Given the description of an element on the screen output the (x, y) to click on. 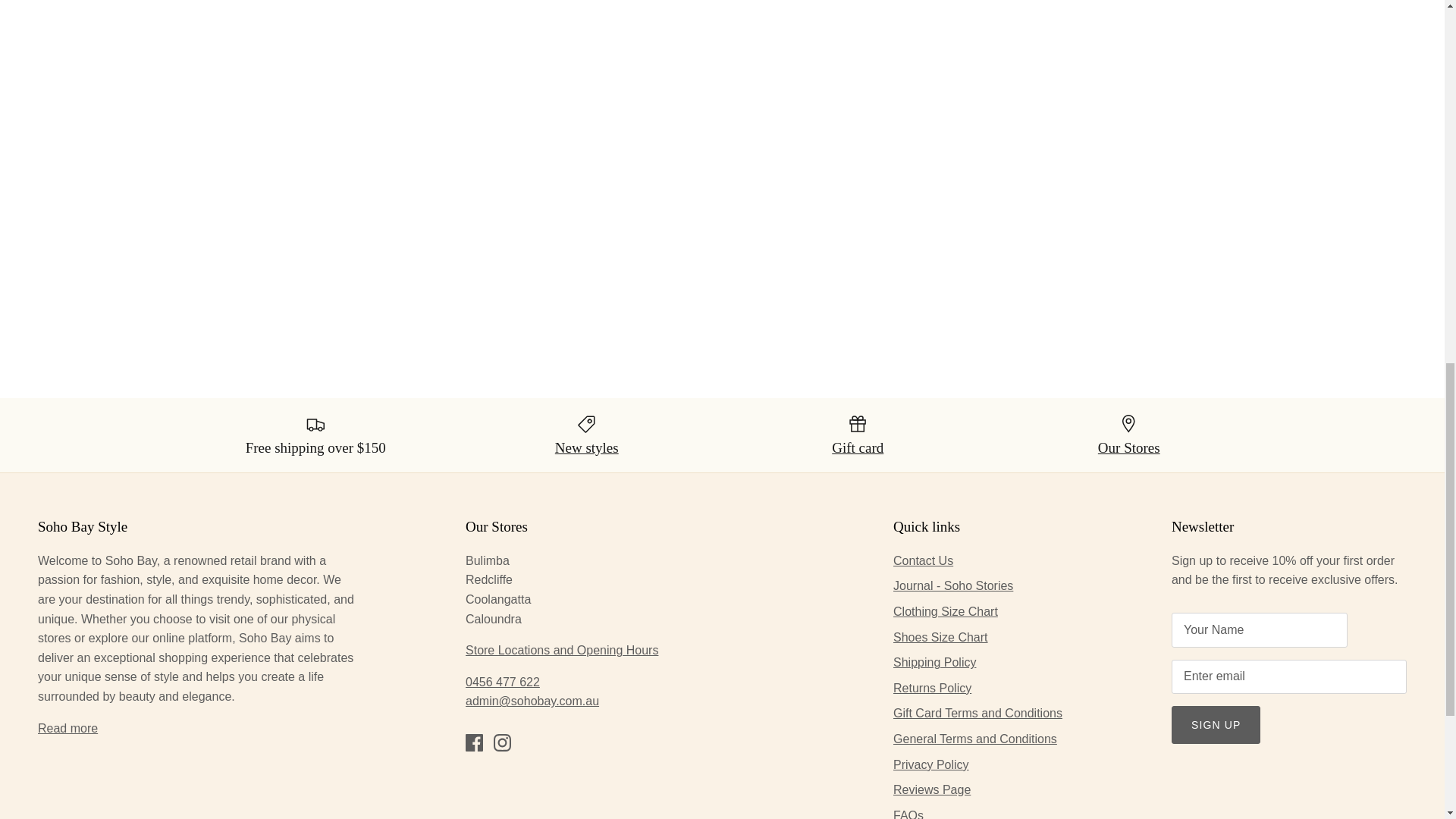
Facebook (474, 742)
Email (531, 700)
About Us (67, 727)
Instagram (502, 742)
tel:0456 477 622 (502, 681)
